Given the description of an element on the screen output the (x, y) to click on. 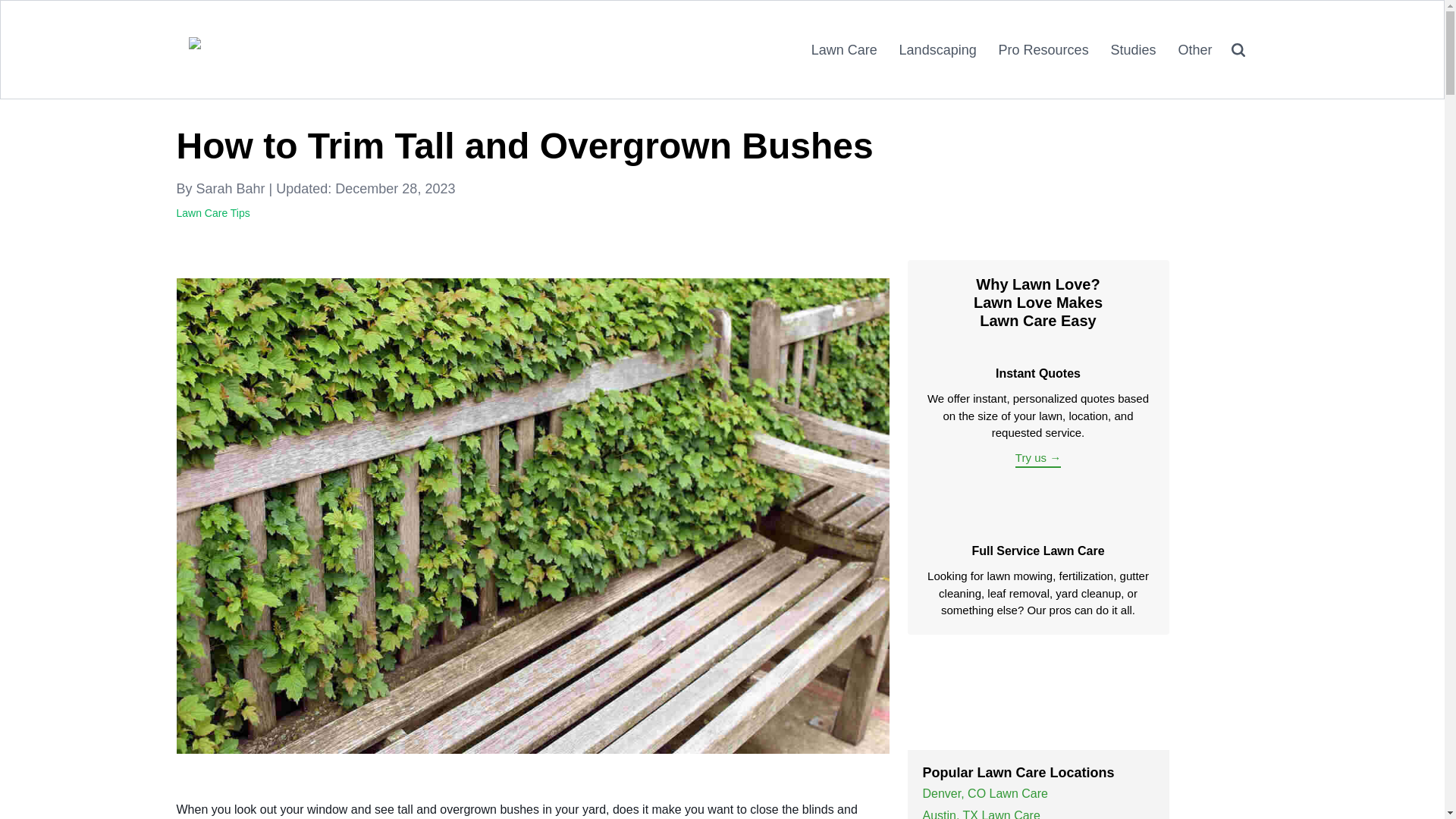
Pro Resources (1041, 49)
Landscaping (936, 49)
Lawn Care Tips (212, 213)
Lawn Care (842, 49)
Studies (1131, 49)
Other (1193, 49)
